Given the description of an element on the screen output the (x, y) to click on. 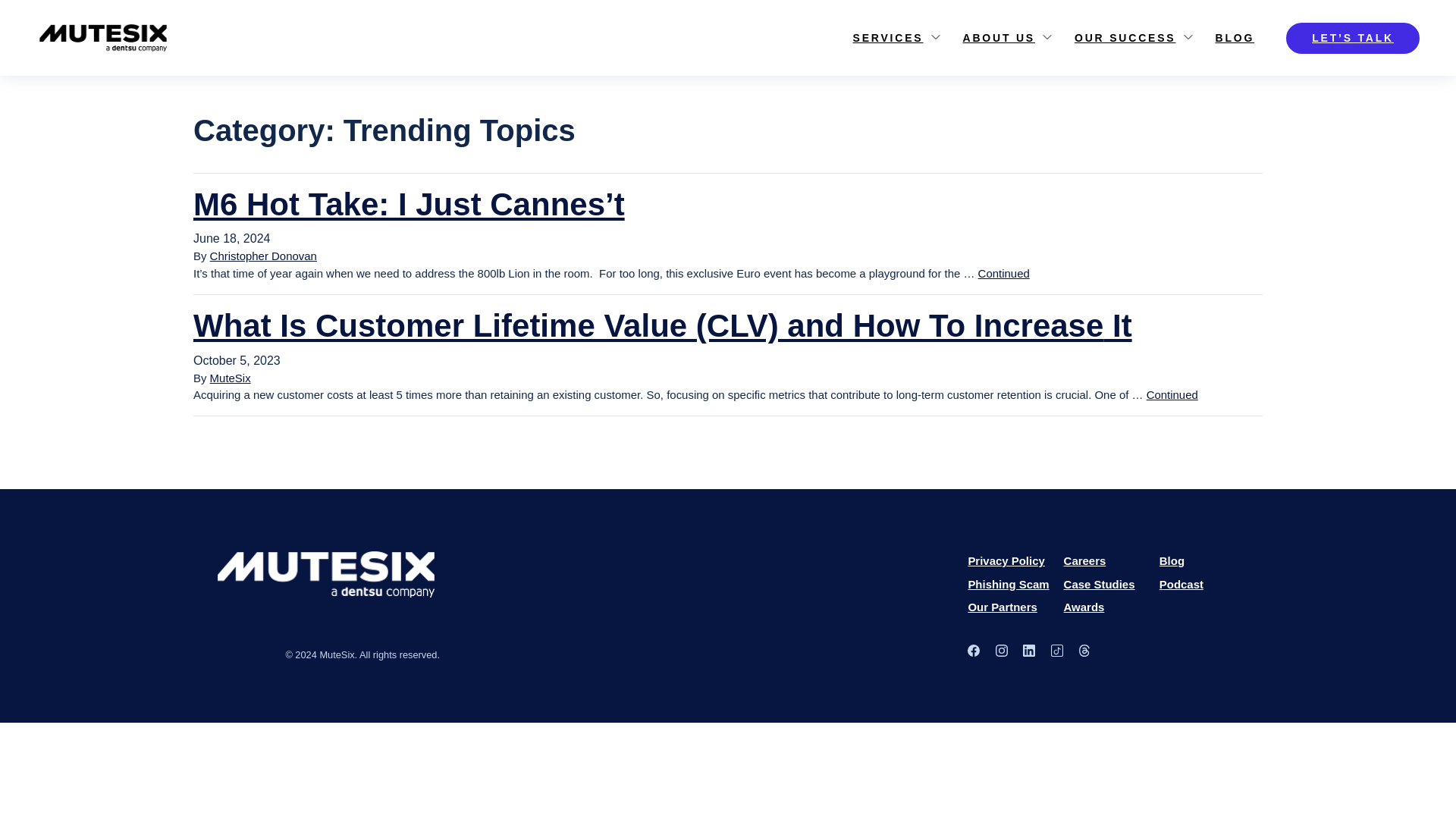
button-style (1352, 38)
